Given the description of an element on the screen output the (x, y) to click on. 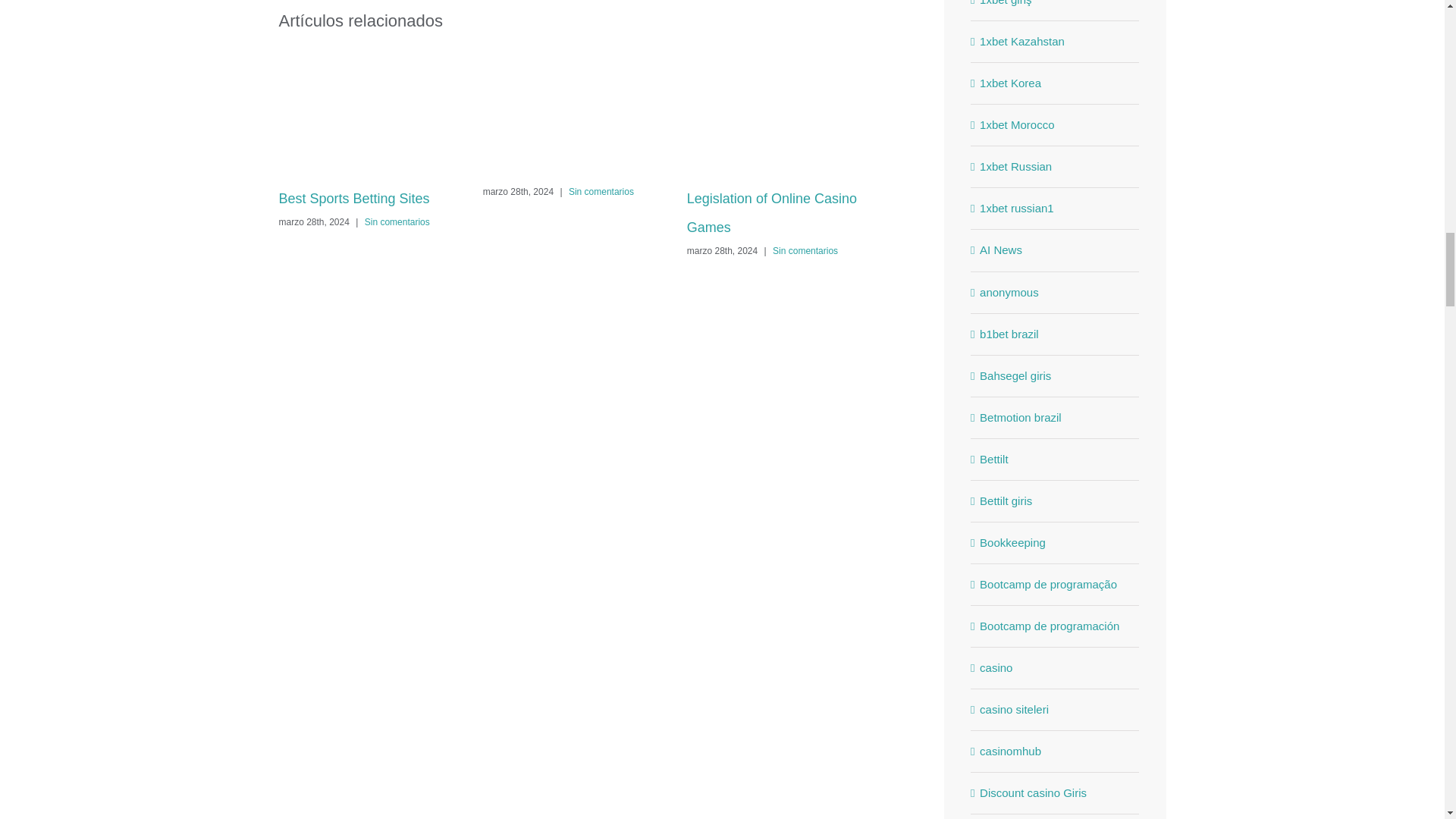
Sin comentarios (397, 222)
Sin comentarios (601, 191)
Best Sports Betting Sites (354, 198)
Legislation of Online Casino Games (772, 212)
Best Sports Betting Sites (354, 198)
